Given the description of an element on the screen output the (x, y) to click on. 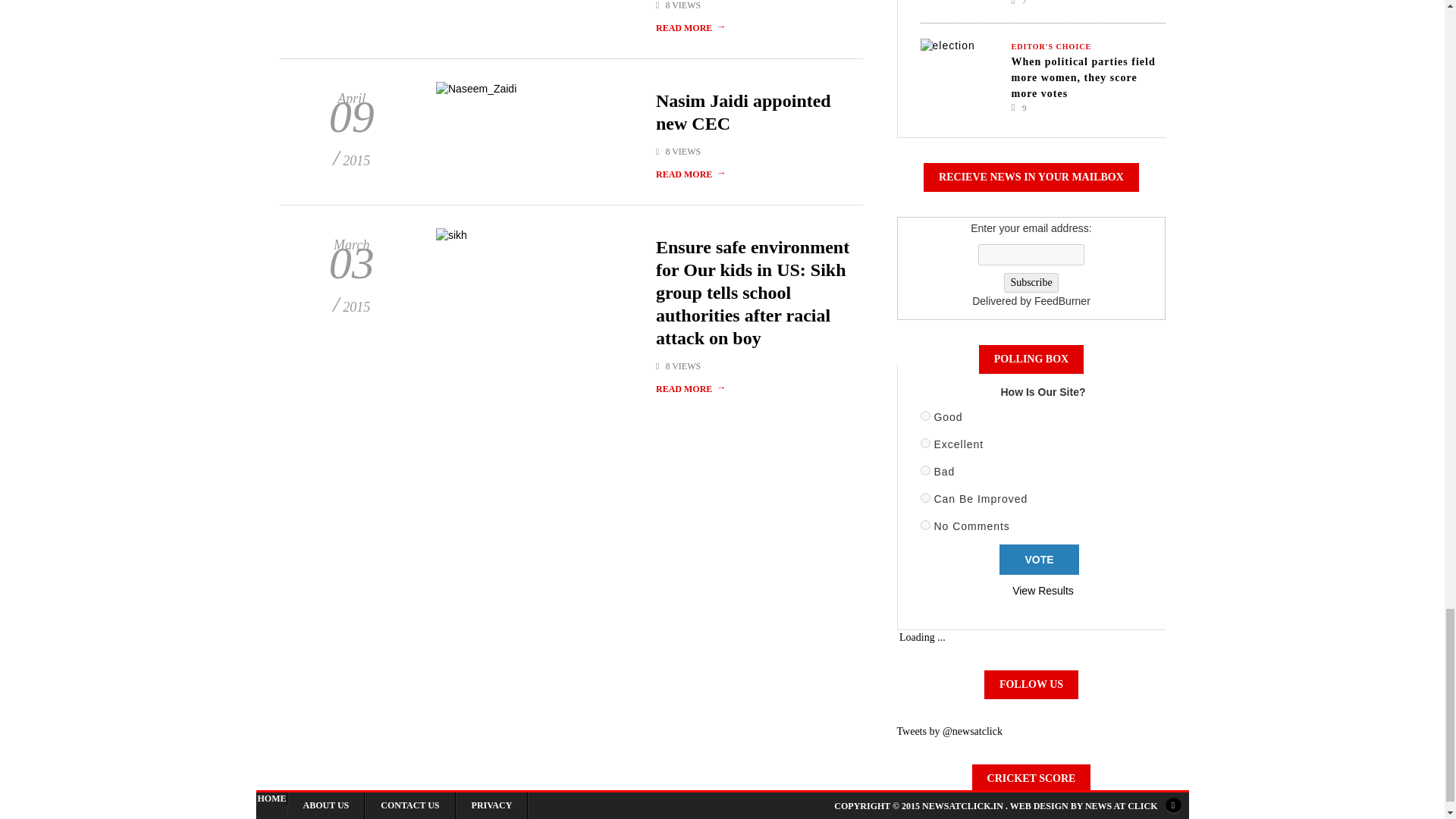
5 (925, 524)
4 (925, 497)
View Results Of This Poll (1042, 590)
3 (925, 470)
1 (925, 415)
2 (925, 442)
Subscribe (1031, 282)
 Vote  (1039, 559)
